Given the description of an element on the screen output the (x, y) to click on. 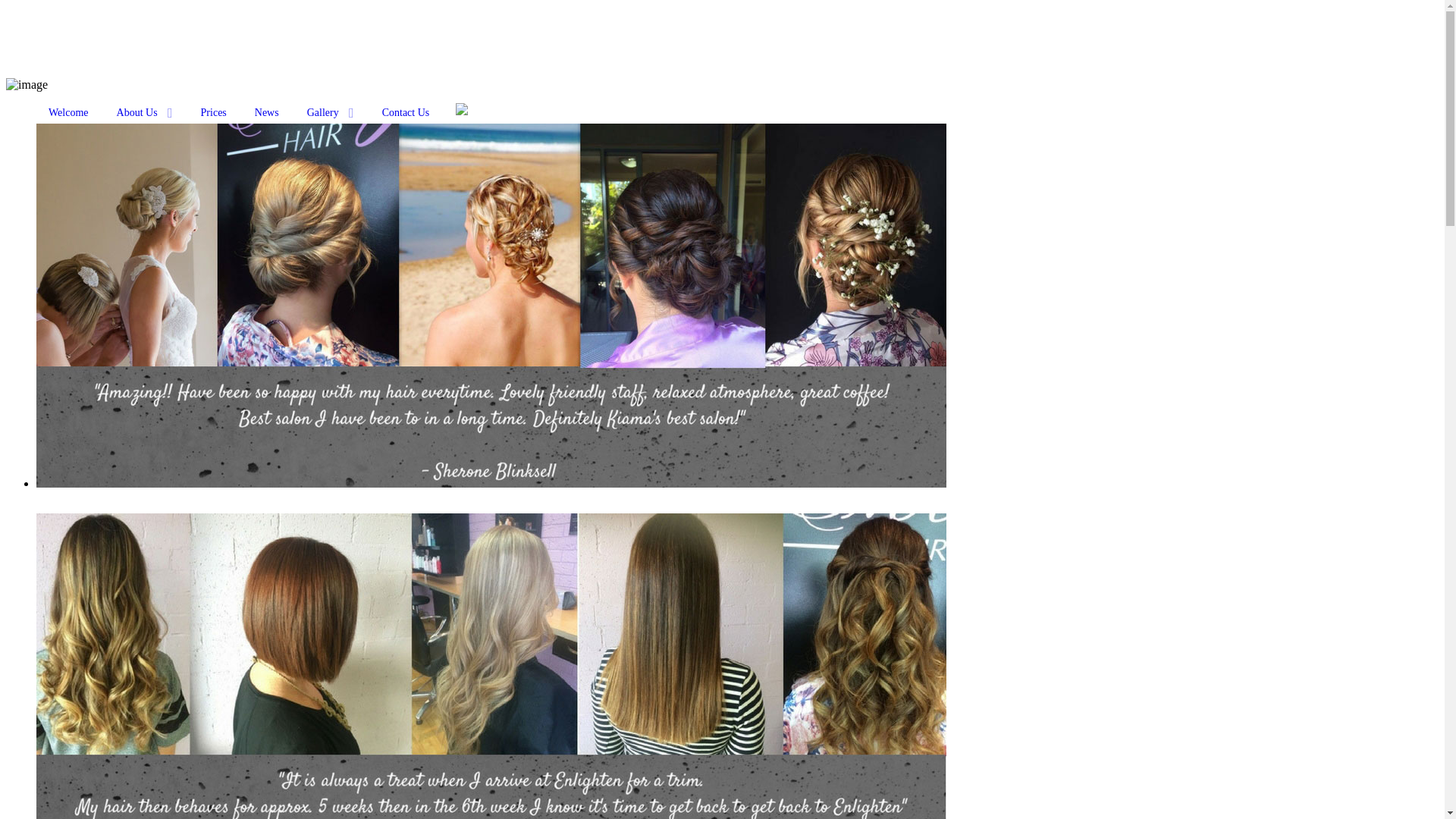
Welcome Element type: text (68, 112)
Book Now Element type: text (462, 112)
News Element type: text (266, 112)
Gallery Element type: text (330, 112)
Contact Us Element type: text (405, 112)
About Us Element type: text (144, 112)
Prices Element type: text (213, 112)
